Given the description of an element on the screen output the (x, y) to click on. 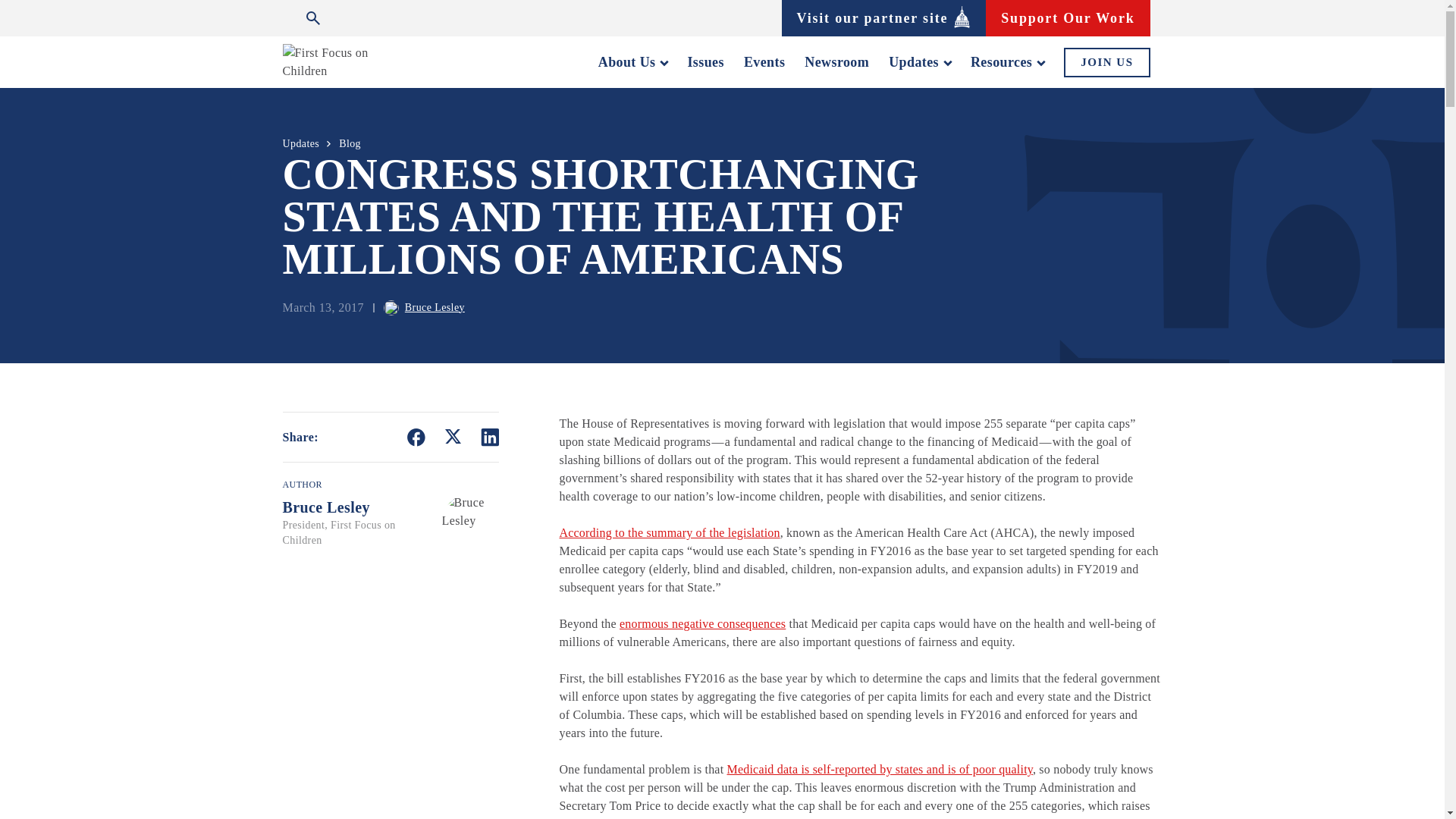
Visit our partner site (883, 17)
Updates (919, 61)
Newsroom (837, 61)
Resources (1007, 61)
Events (764, 61)
Support Our Work (1067, 17)
JOIN US (1107, 61)
About Us (633, 61)
Issues (705, 61)
